Given the description of an element on the screen output the (x, y) to click on. 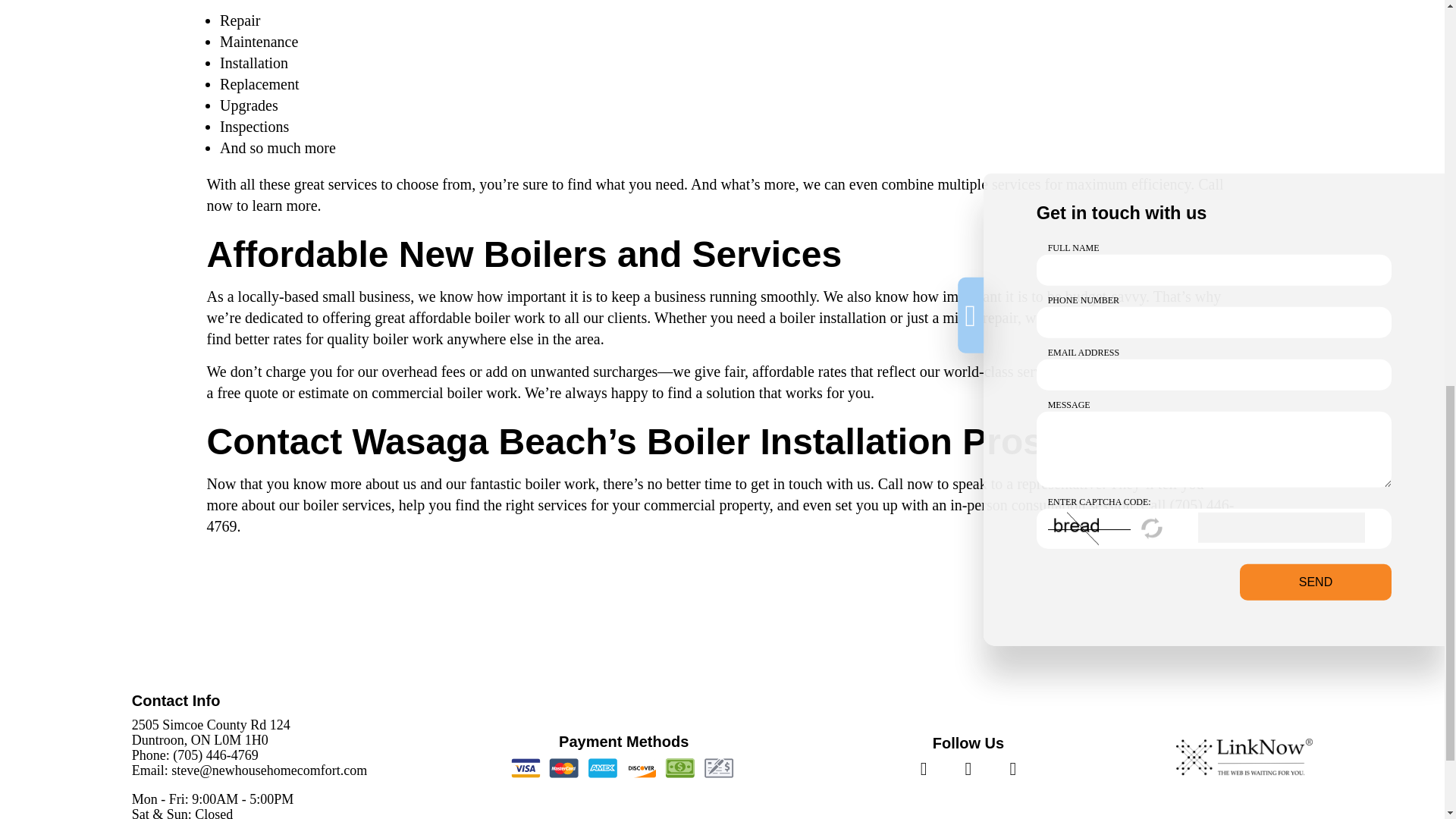
Discover (642, 768)
Check (719, 768)
Mastercard (563, 768)
Cash (679, 768)
American Express (602, 768)
Visa (525, 768)
